Given the description of an element on the screen output the (x, y) to click on. 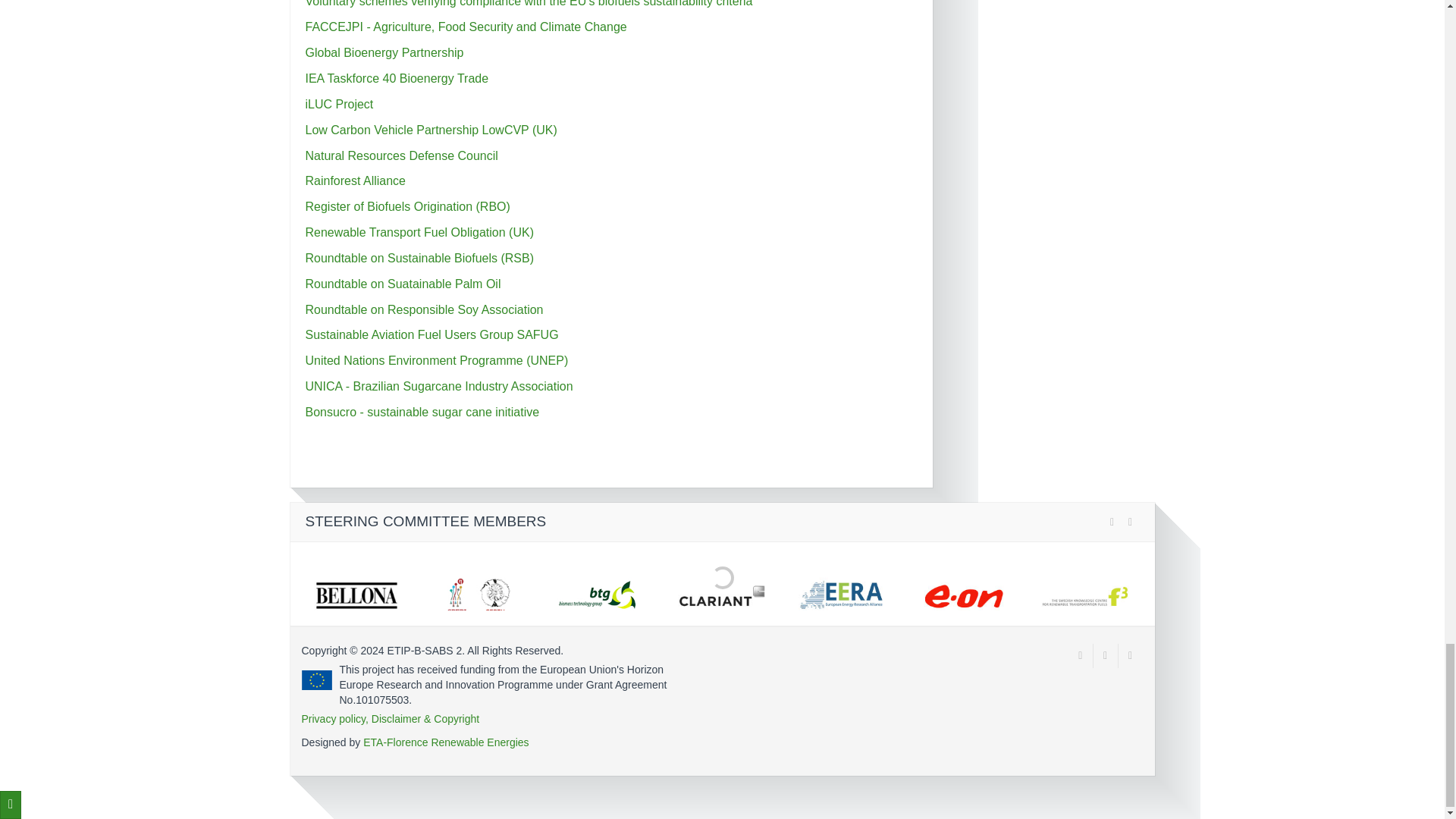
YouTube (1105, 655)
Linkedin (1129, 655)
Twitter (1080, 655)
